Given the description of an element on the screen output the (x, y) to click on. 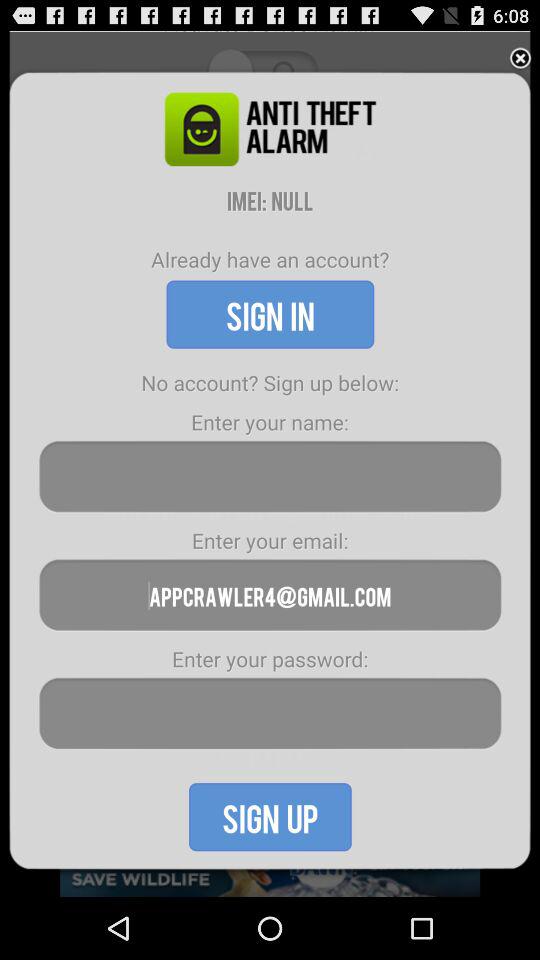
go to the name section (270, 476)
